Given the description of an element on the screen output the (x, y) to click on. 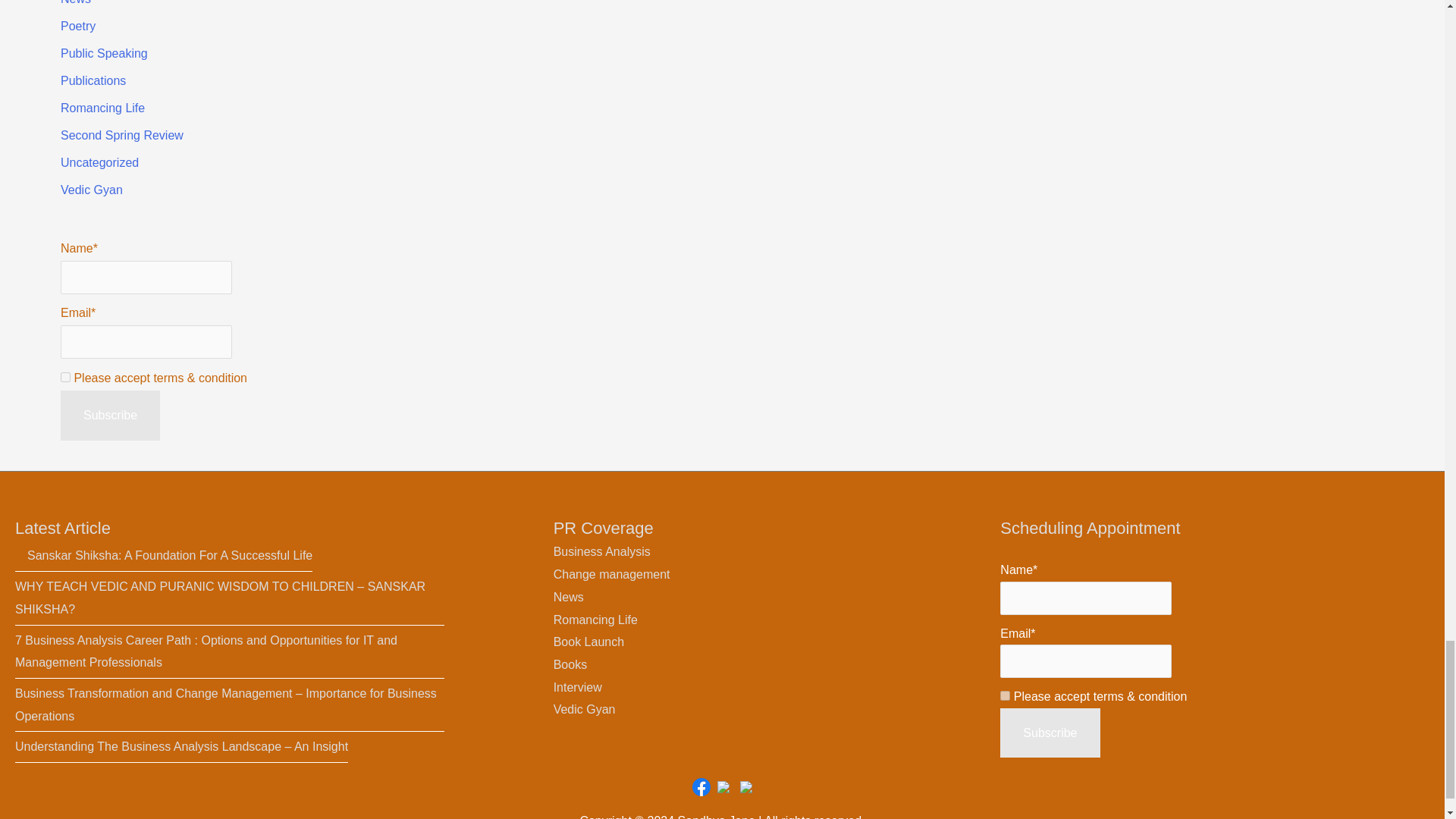
true (65, 377)
true (1005, 696)
Subscribe (110, 415)
Subscribe (1049, 733)
